Given the description of an element on the screen output the (x, y) to click on. 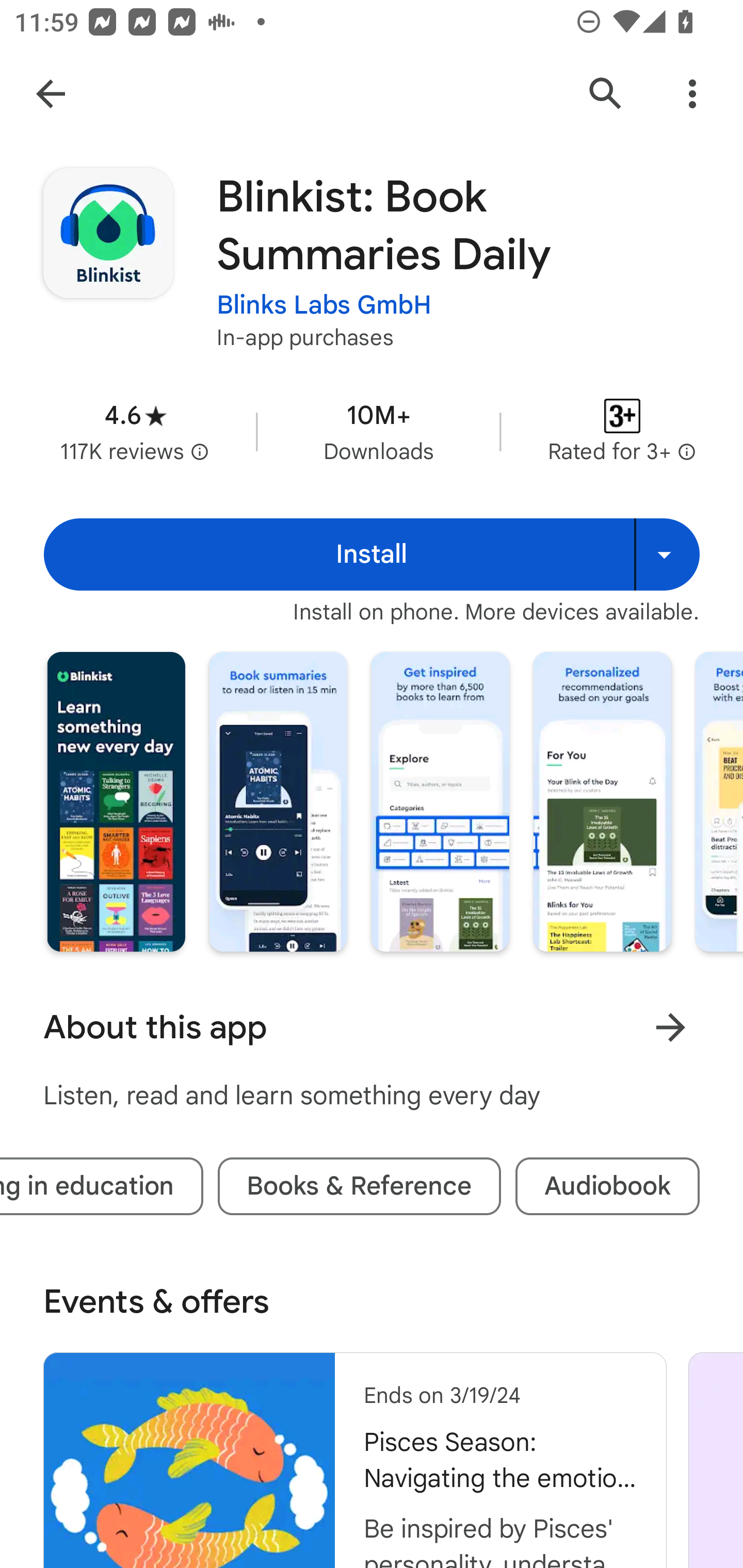
Navigate up (50, 93)
Search Google Play (605, 93)
More Options (692, 93)
Blinks Labs GmbH (323, 304)
Average rating 4.6 stars in 117 thousand reviews (135, 431)
Content rating Rated for 3+ (622, 431)
Install Install Install on more devices (371, 554)
Install on more devices (667, 554)
Screenshot "1" of "8" (115, 801)
Screenshot "2" of "8" (277, 801)
Screenshot "3" of "8" (439, 801)
Screenshot "4" of "8" (601, 801)
About this app Learn more About this app (371, 1027)
Learn more About this app (670, 1027)
#8 top grossing in education tag (101, 1186)
Books & Reference tag (358, 1186)
Audiobook tag (607, 1186)
